Given the description of an element on the screen output the (x, y) to click on. 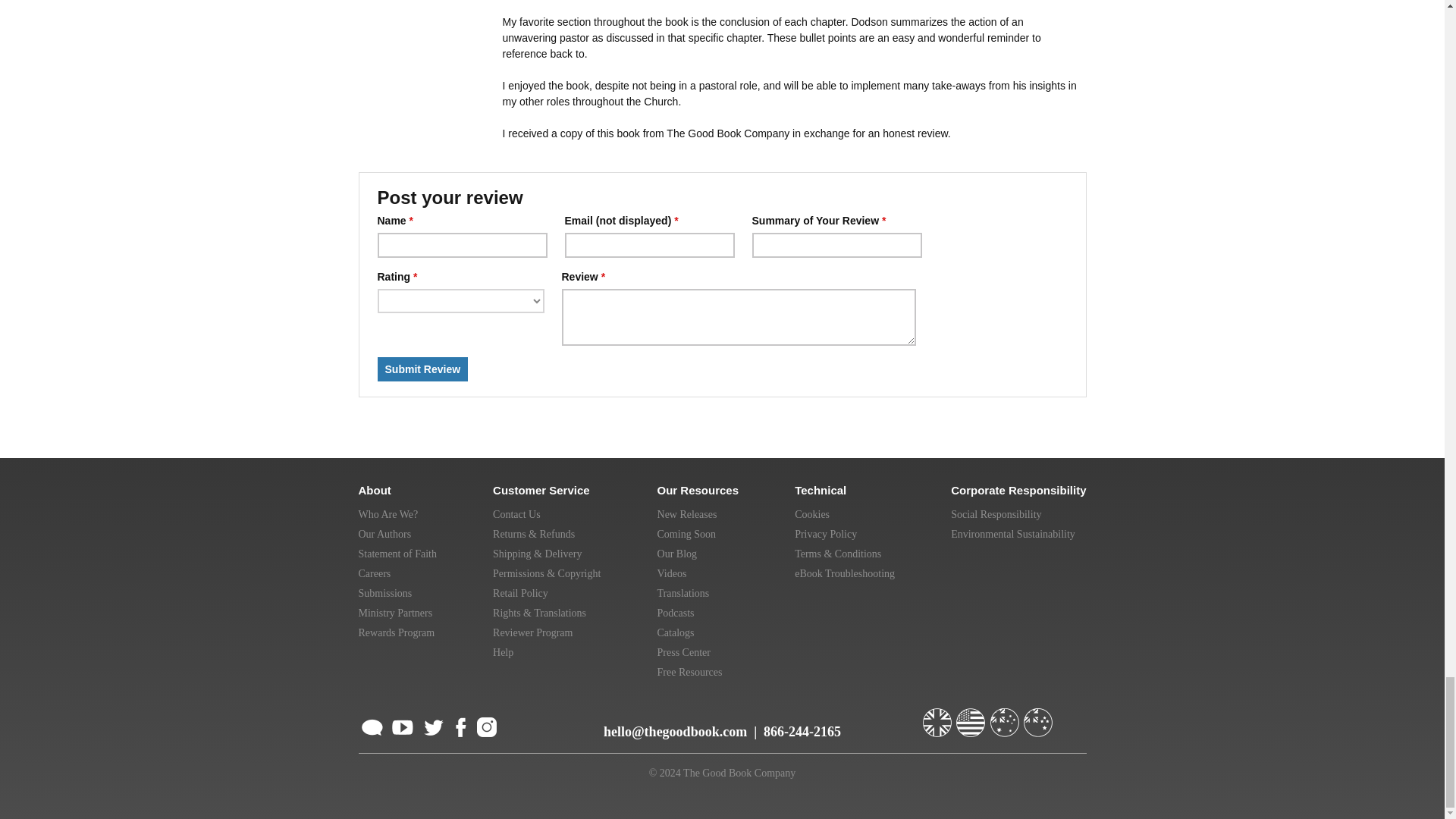
Go to Australia Website (1006, 715)
Go to South Africa Website (1071, 715)
Go to UK Website (937, 715)
Go to US Website (972, 715)
Go to New Zealand Website (1039, 715)
Subscribe to feed (371, 725)
Submit Review (422, 369)
